Given the description of an element on the screen output the (x, y) to click on. 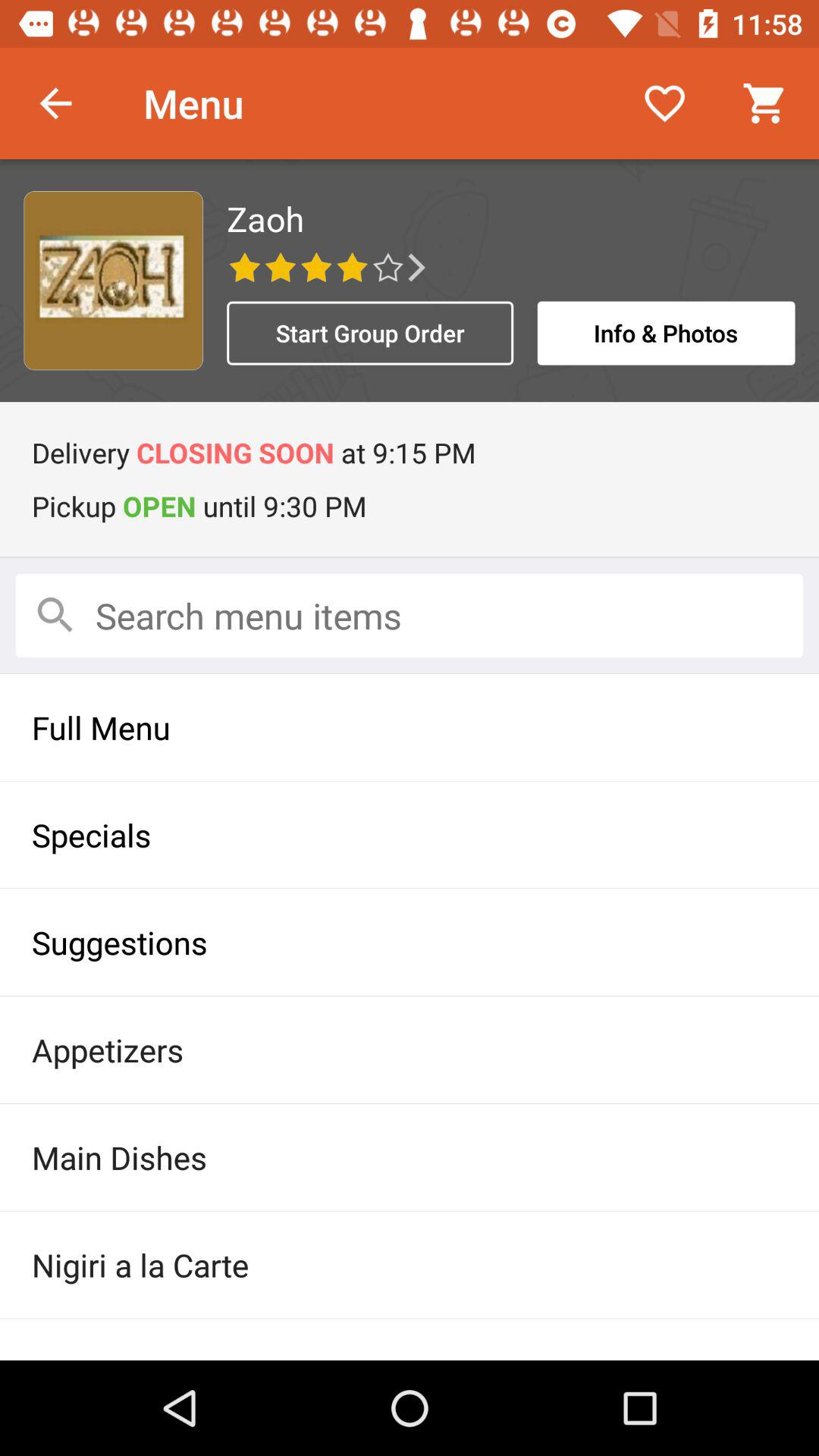
turn on icon below suggestions (409, 1049)
